Given the description of an element on the screen output the (x, y) to click on. 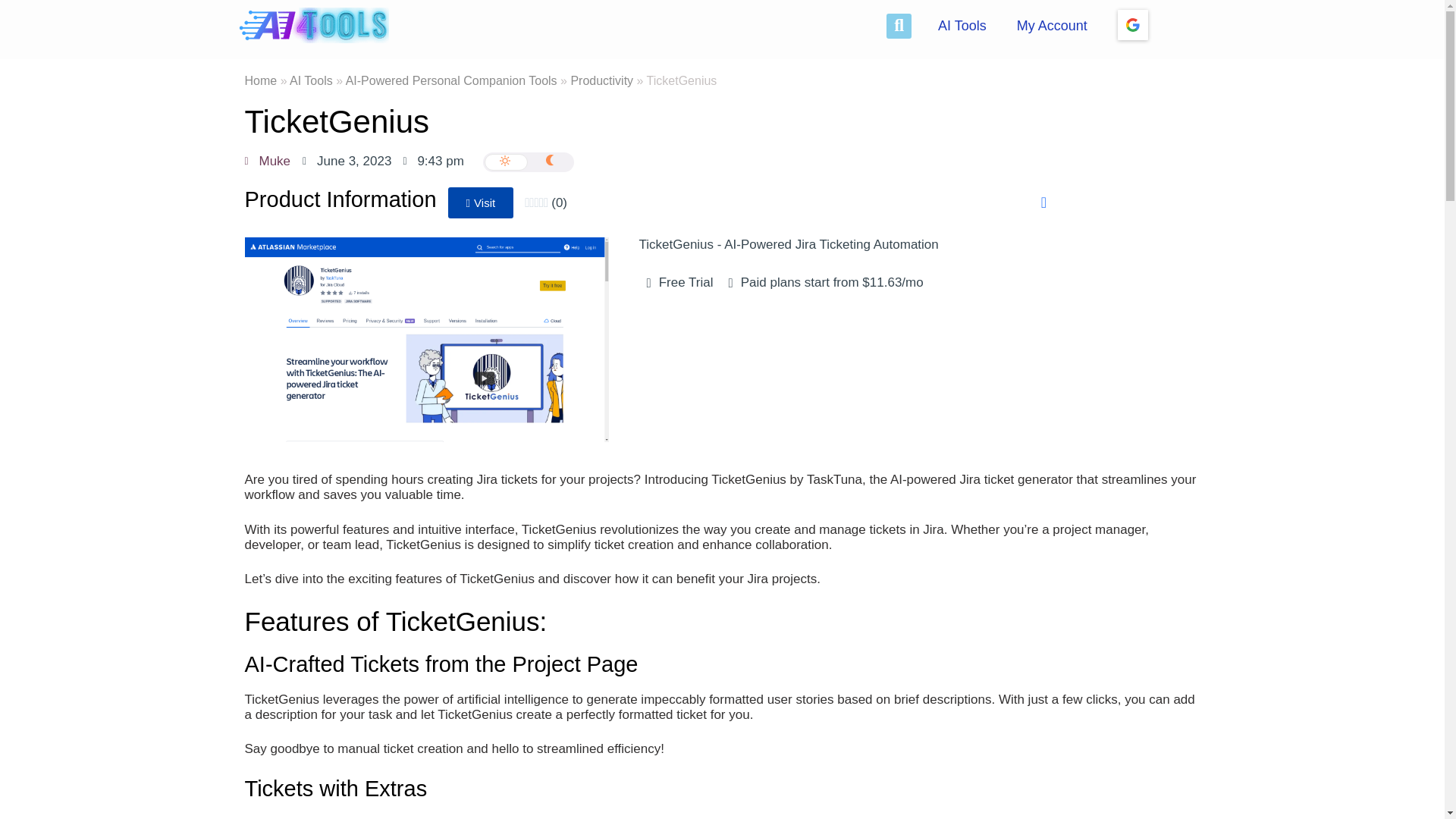
My Account (1051, 25)
Visit (480, 202)
Muke (266, 160)
AI Tools (311, 80)
AI Tools (962, 25)
AI-Powered Personal Companion Tools (451, 80)
Productivity (601, 80)
Home (260, 80)
